Given the description of an element on the screen output the (x, y) to click on. 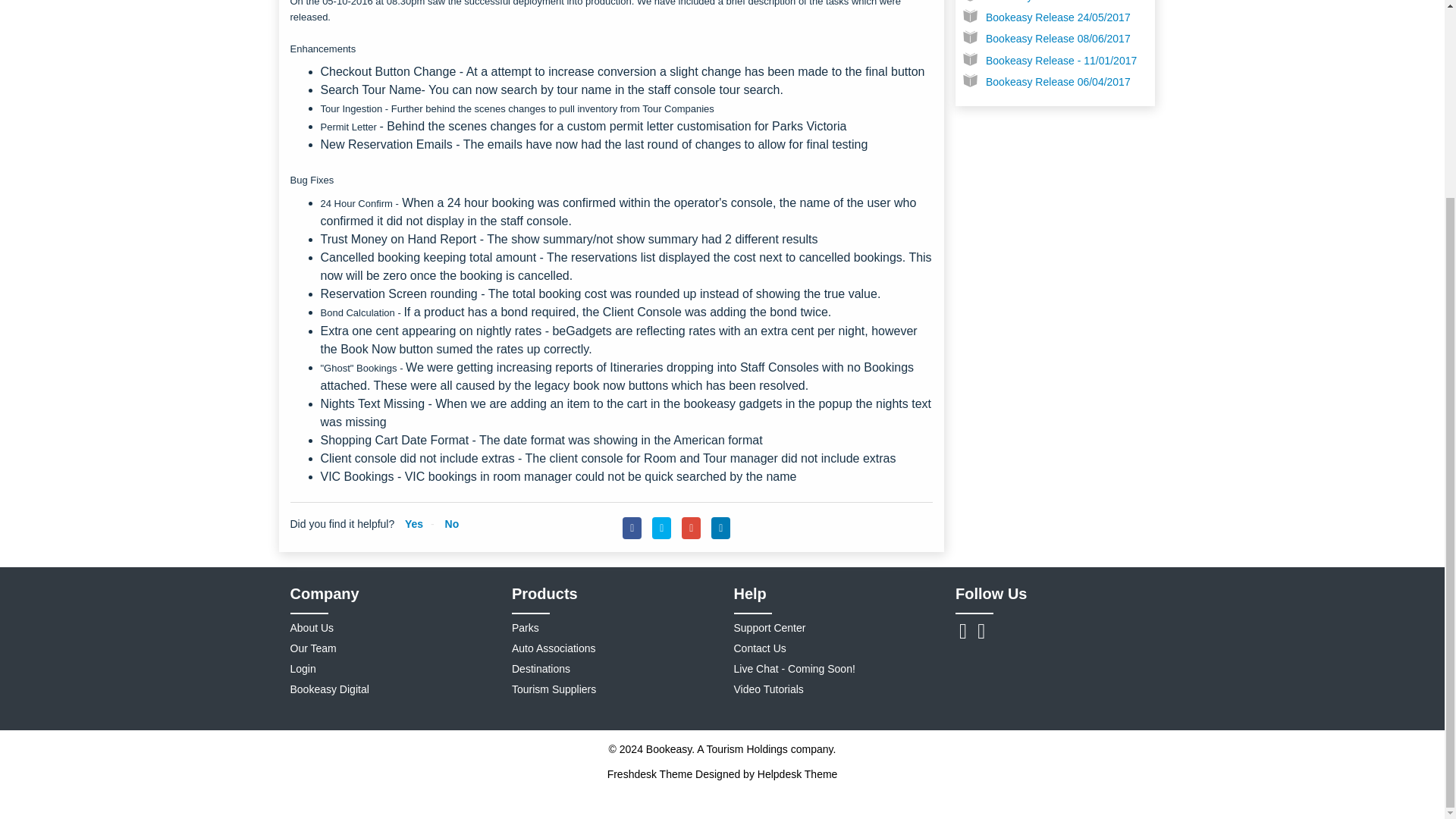
Bookeasy (668, 748)
Bookeasy (746, 748)
Contact Us (759, 648)
Destinations (541, 668)
Parks (525, 627)
About Us (311, 627)
Video Tutorials (768, 689)
Our Team (312, 648)
Live Chat - Coming Soon! (794, 668)
Login (302, 668)
